Given the description of an element on the screen output the (x, y) to click on. 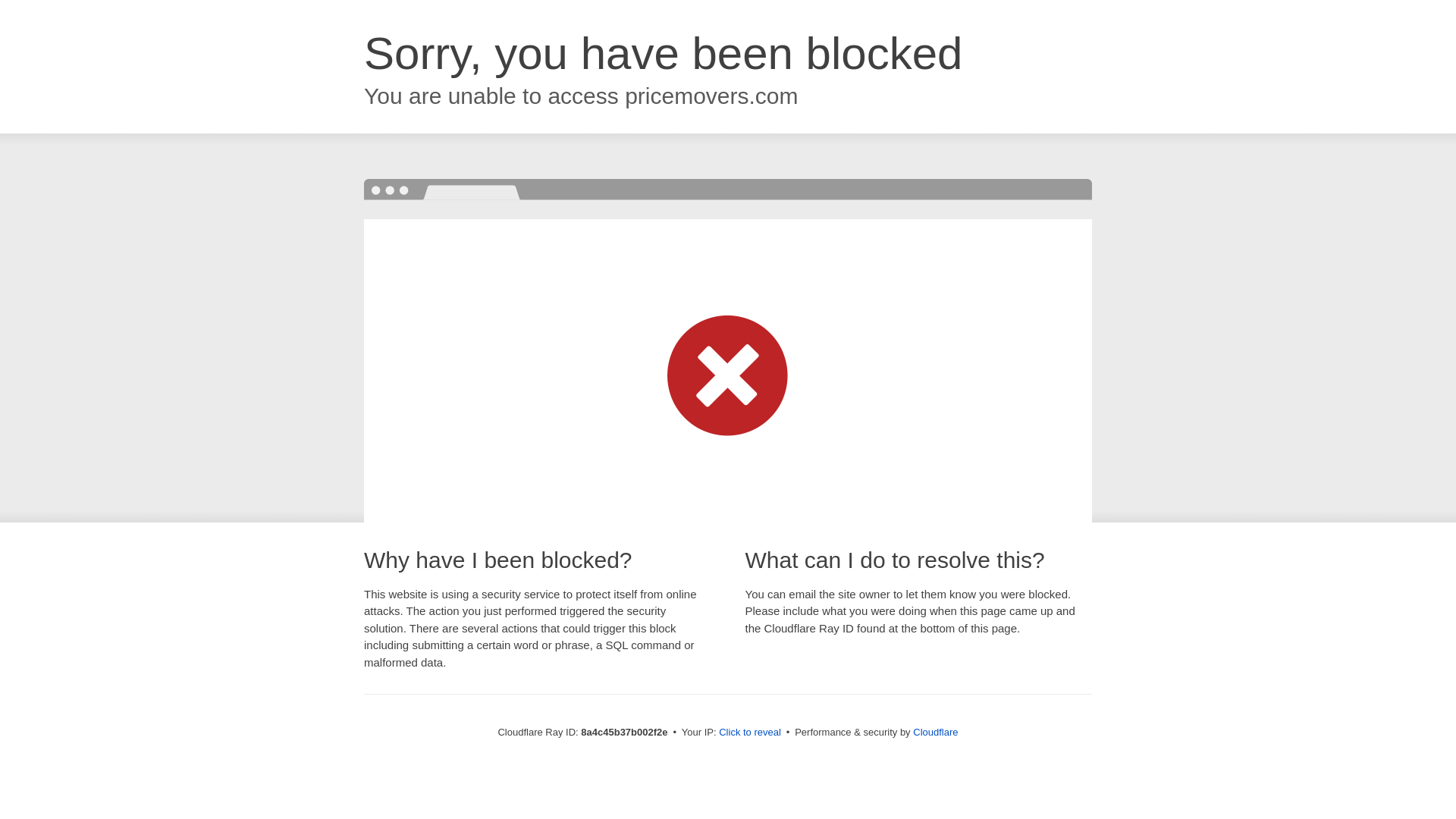
Click to reveal (749, 732)
Cloudflare (935, 731)
